Given the description of an element on the screen output the (x, y) to click on. 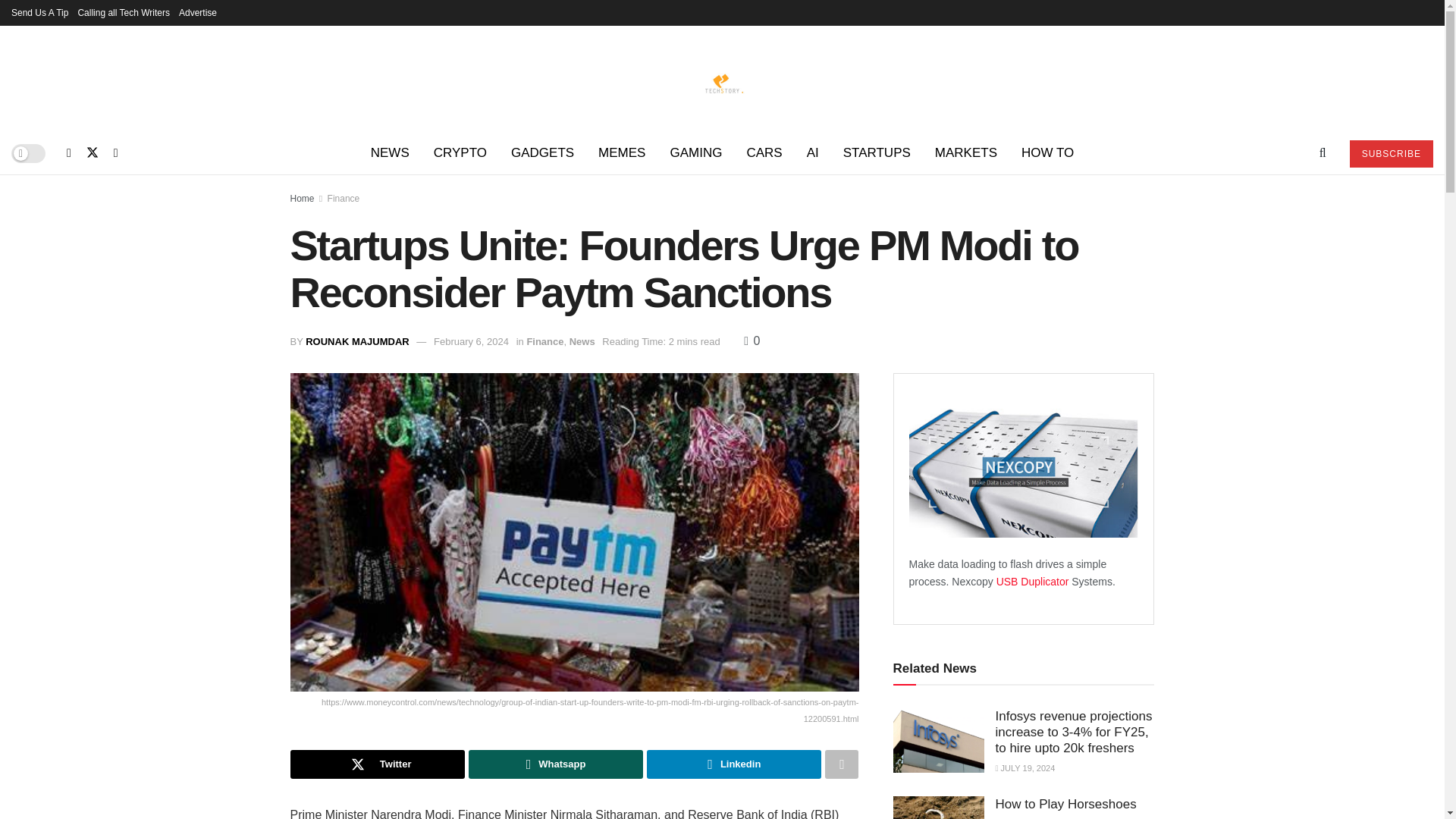
Send Us A Tip (39, 12)
Finance (343, 198)
MEMES (622, 152)
SUBSCRIBE (1390, 153)
Advertise (197, 12)
ROUNAK MAJUMDAR (357, 341)
STARTUPS (877, 152)
GADGETS (542, 152)
Calling all Tech Writers (123, 12)
MARKETS (966, 152)
CRYPTO (460, 152)
HOW TO (1047, 152)
NEWS (390, 152)
Home (301, 198)
CARS (763, 152)
